Given the description of an element on the screen output the (x, y) to click on. 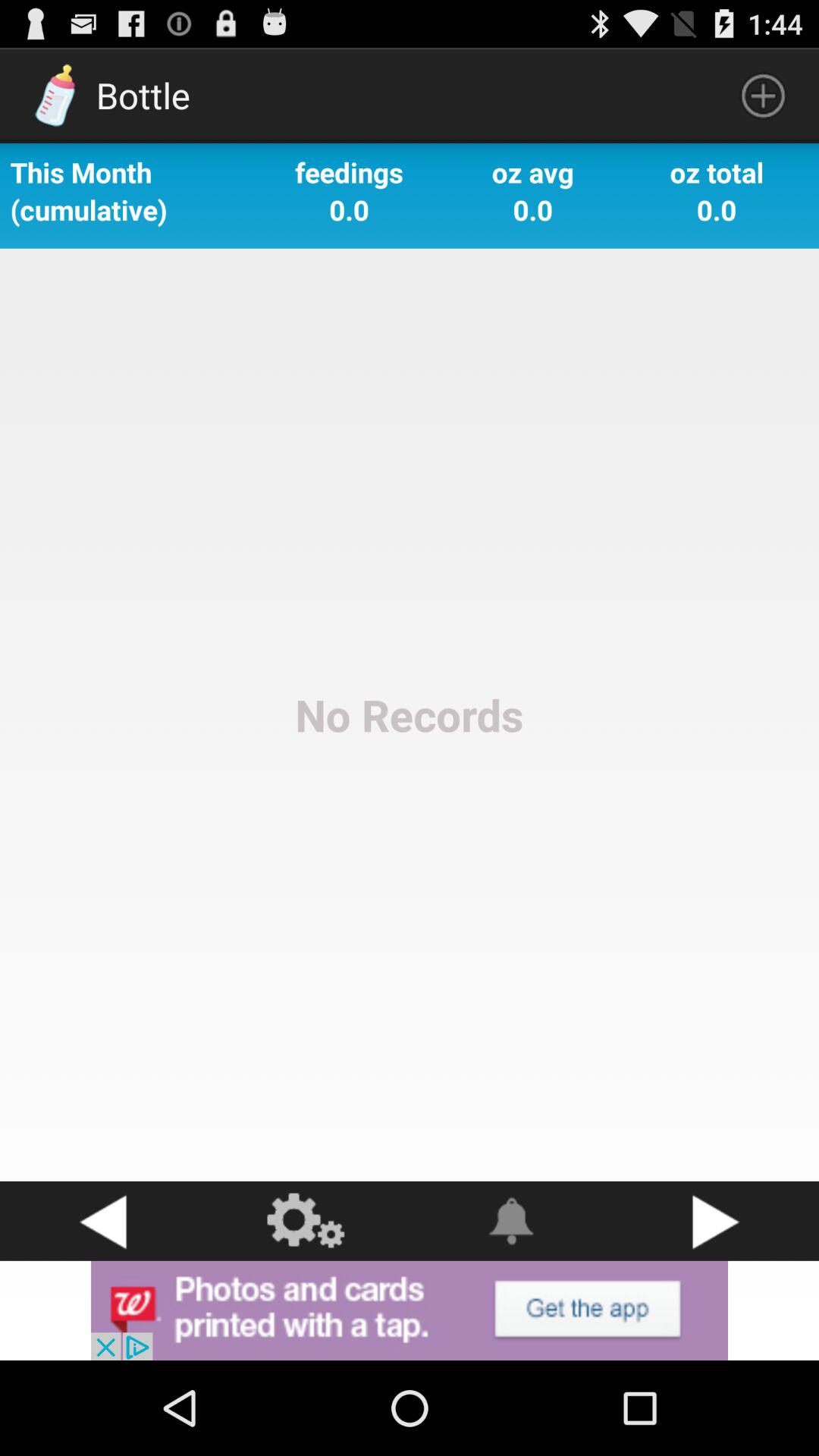
click on add (409, 1310)
